Given the description of an element on the screen output the (x, y) to click on. 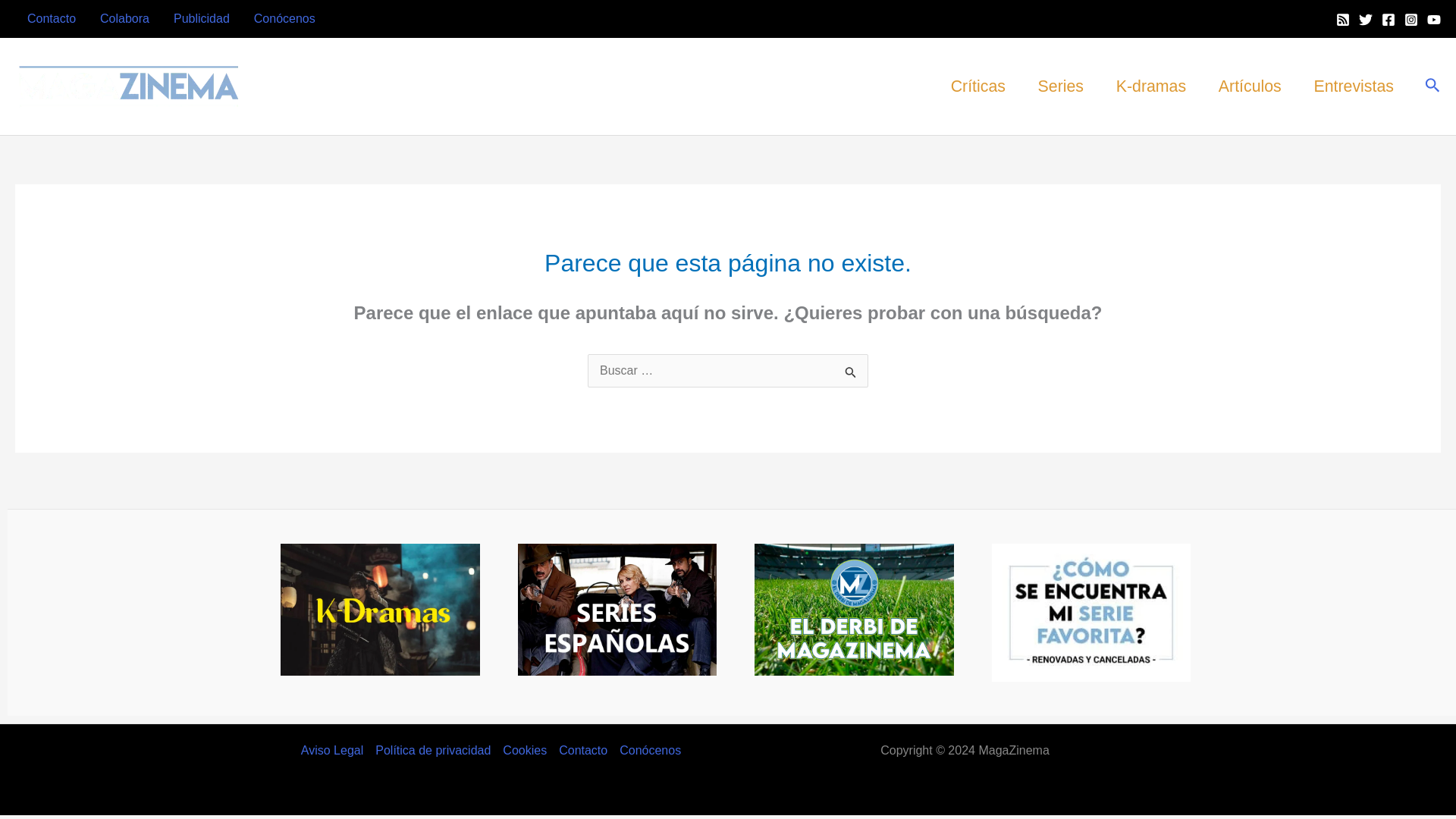
K-dramas (1150, 86)
Publicidad (201, 18)
Contacto (50, 18)
Entrevistas (1353, 86)
Colabora (124, 18)
Series (1060, 86)
